Given the description of an element on the screen output the (x, y) to click on. 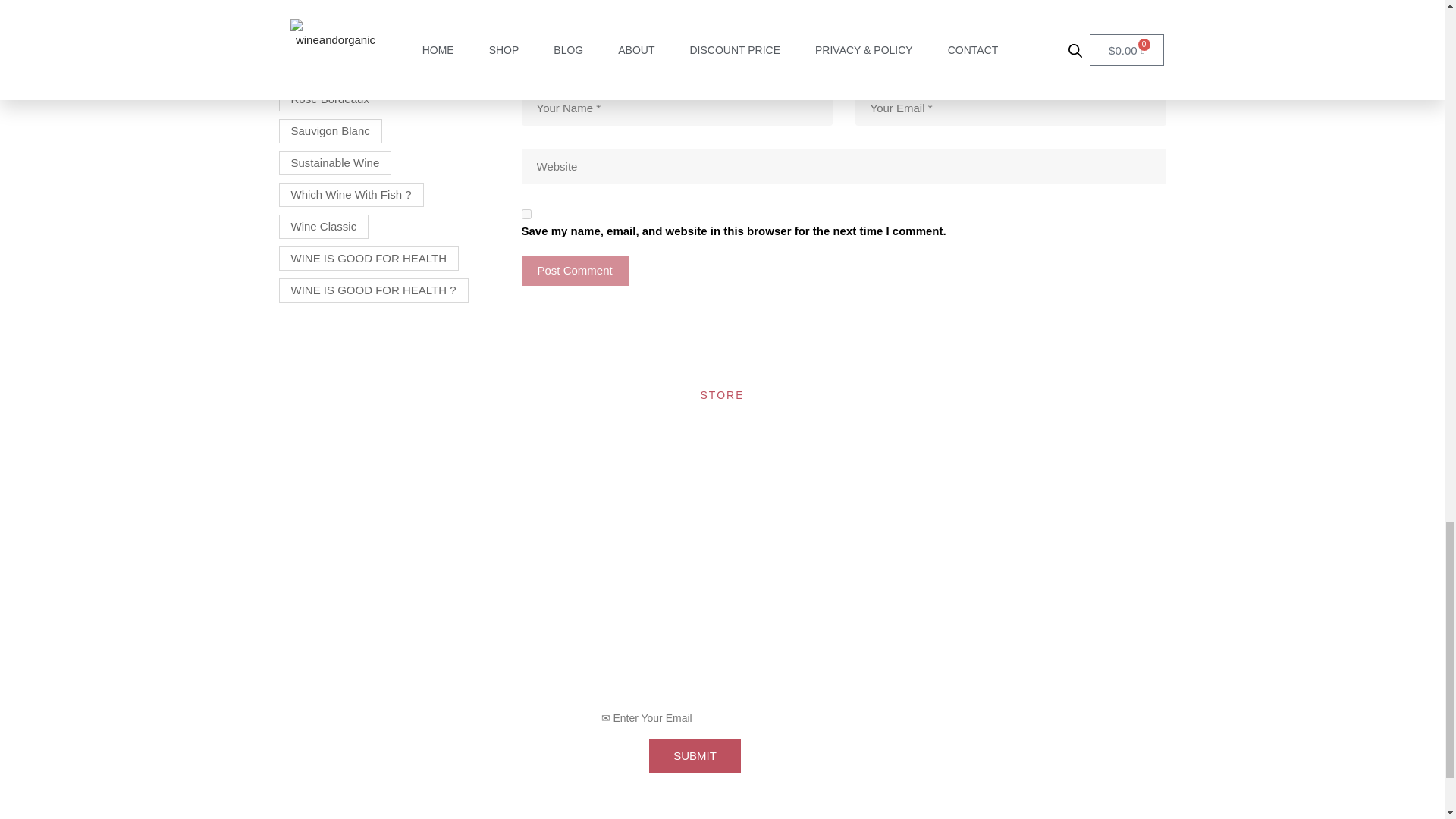
Post Comment (574, 270)
yes (526, 214)
SUBMIT (695, 755)
